Given the description of an element on the screen output the (x, y) to click on. 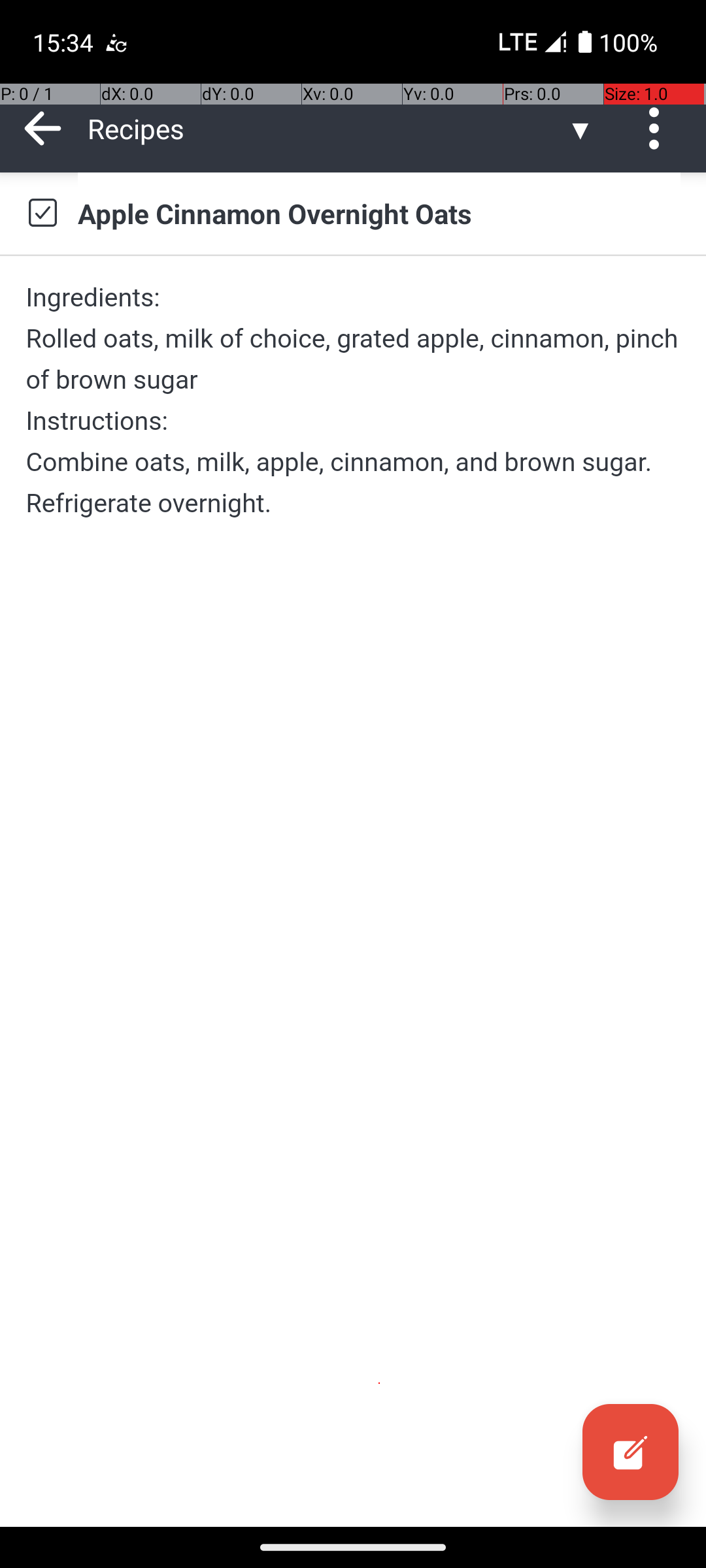
Apple Cinnamon Overnight Oats Element type: android.widget.EditText (378, 213)
Ingredients:
Rolled oats, milk of choice, grated apple, cinnamon, pinch of brown sugar
Instructions:
Combine oats, milk, apple, cinnamon, and brown sugar. Refrigerate overnight. Element type: android.widget.TextView (352, 399)
